Given the description of an element on the screen output the (x, y) to click on. 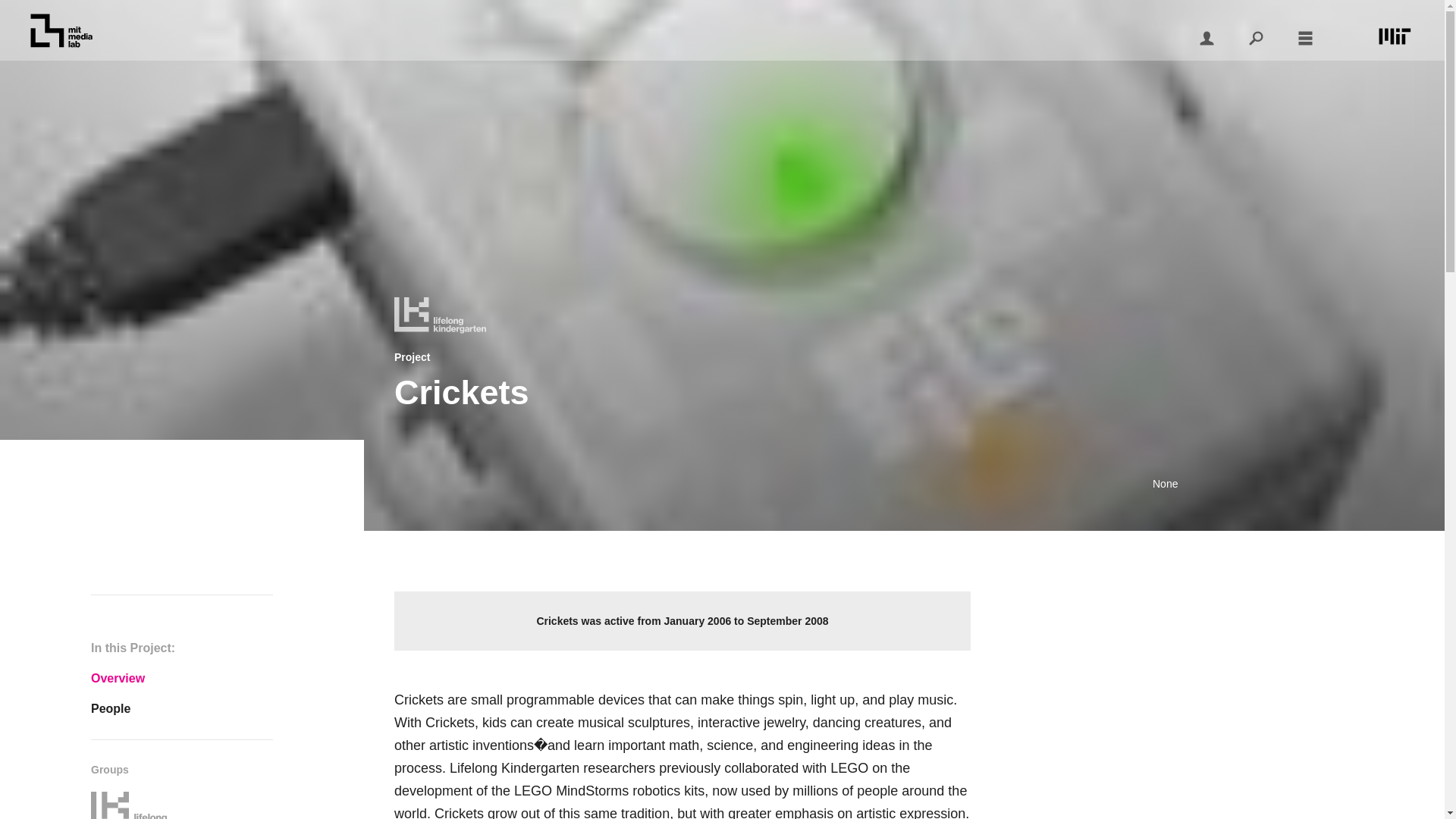
Overview (181, 678)
People (181, 708)
